Given the description of an element on the screen output the (x, y) to click on. 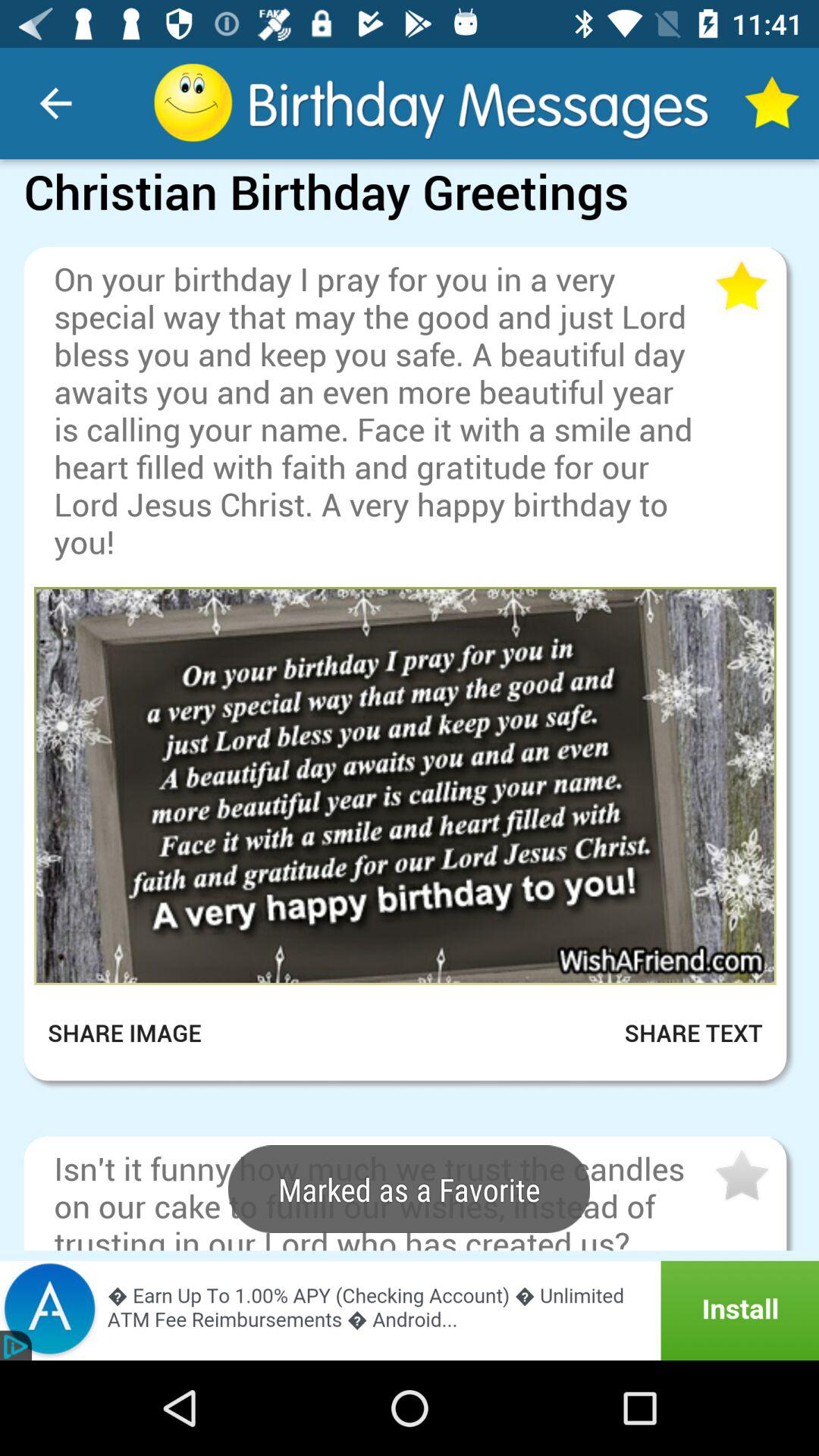
click the share image (134, 1032)
